Given the description of an element on the screen output the (x, y) to click on. 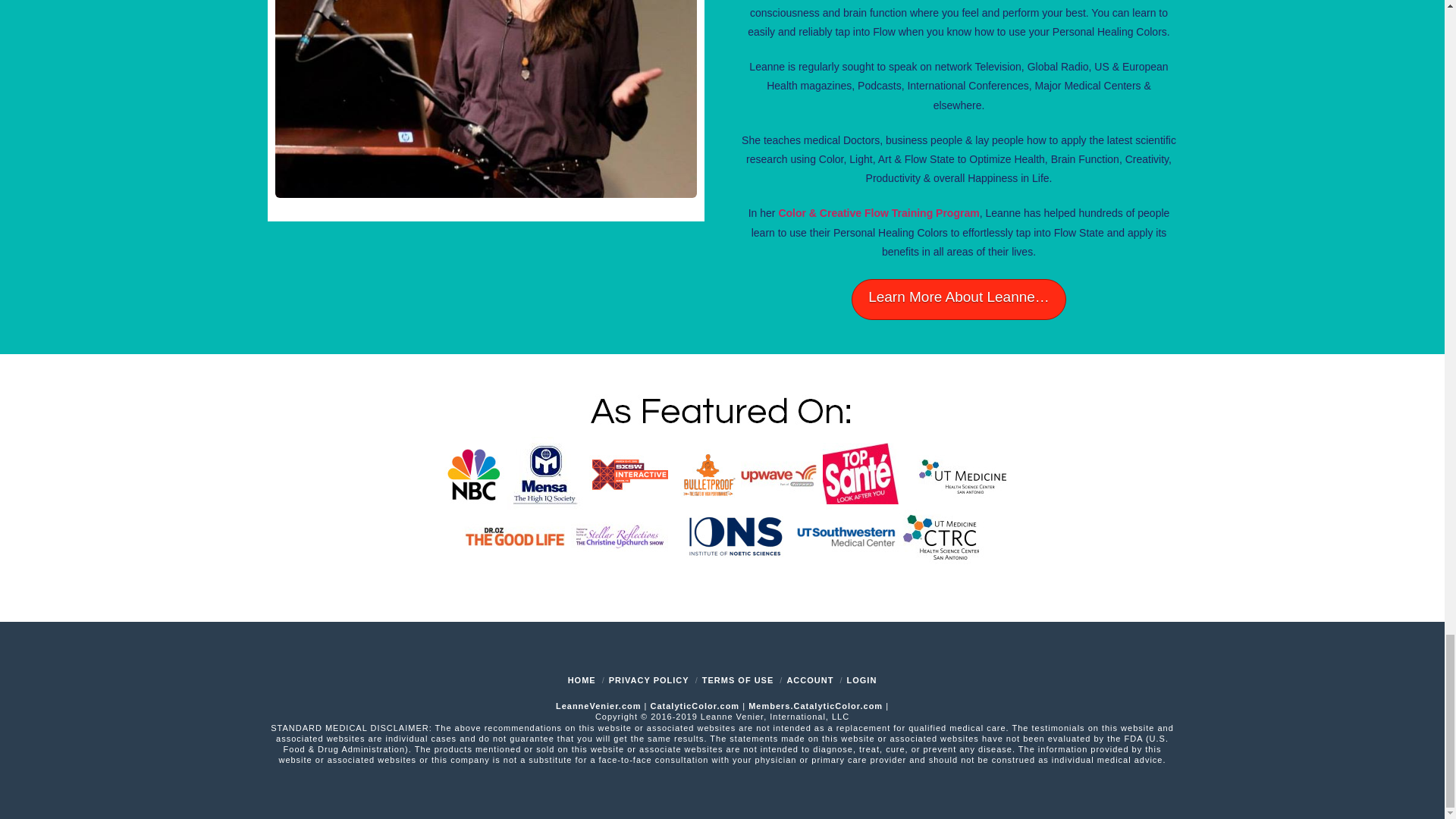
LOGIN (860, 679)
LeanneVenier.com (599, 705)
Members.CatalyticColor.com (815, 705)
About Leanne (958, 299)
PRIVACY POLICY (648, 679)
HOME (581, 679)
ACCOUNT (809, 679)
TERMS OF USE (737, 679)
CatalyticColor.com (694, 705)
